Given the description of an element on the screen output the (x, y) to click on. 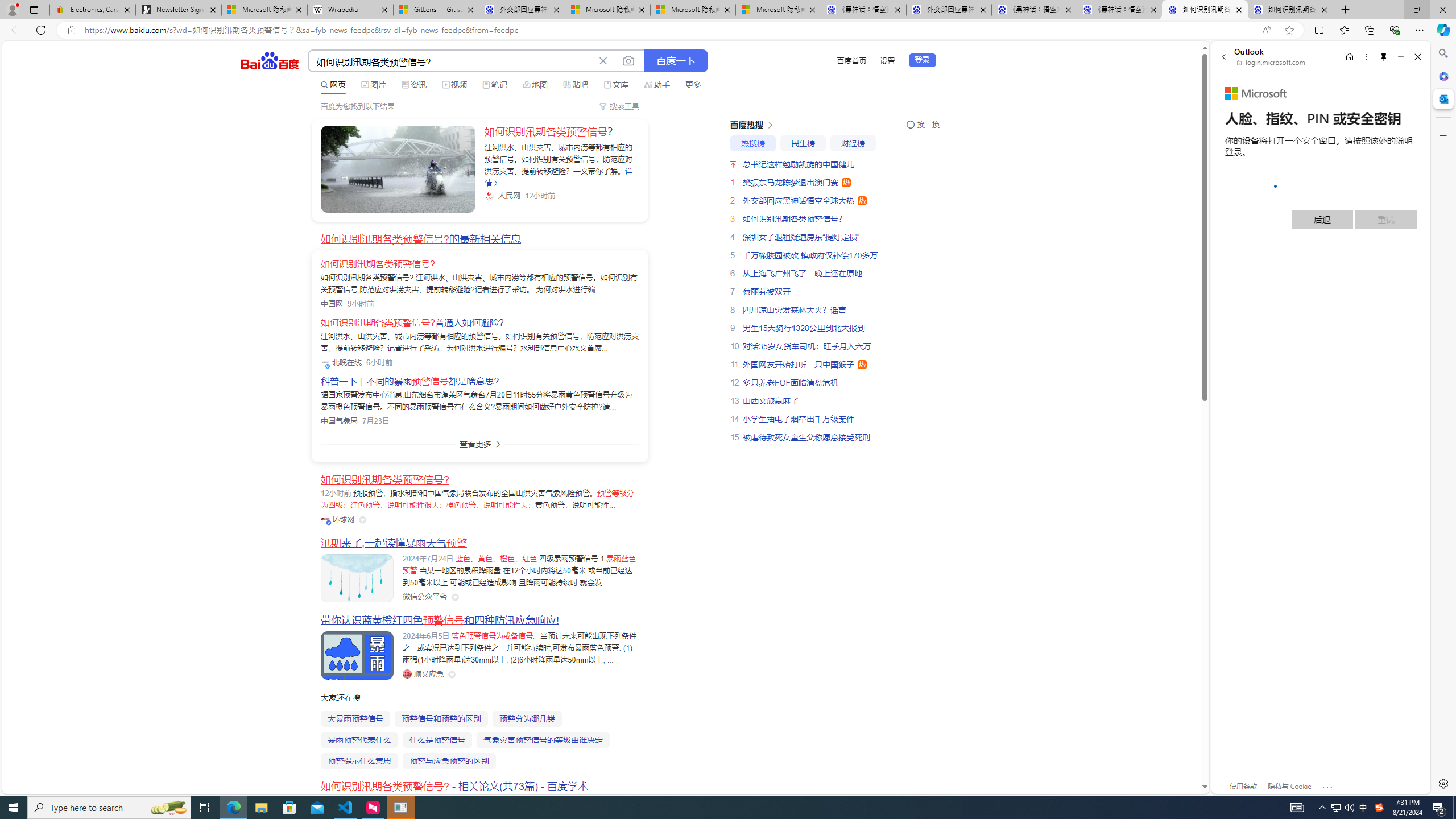
AutomationID: kw (451, 61)
Class: vip-icon_kNmNt (328, 522)
